Given the description of an element on the screen output the (x, y) to click on. 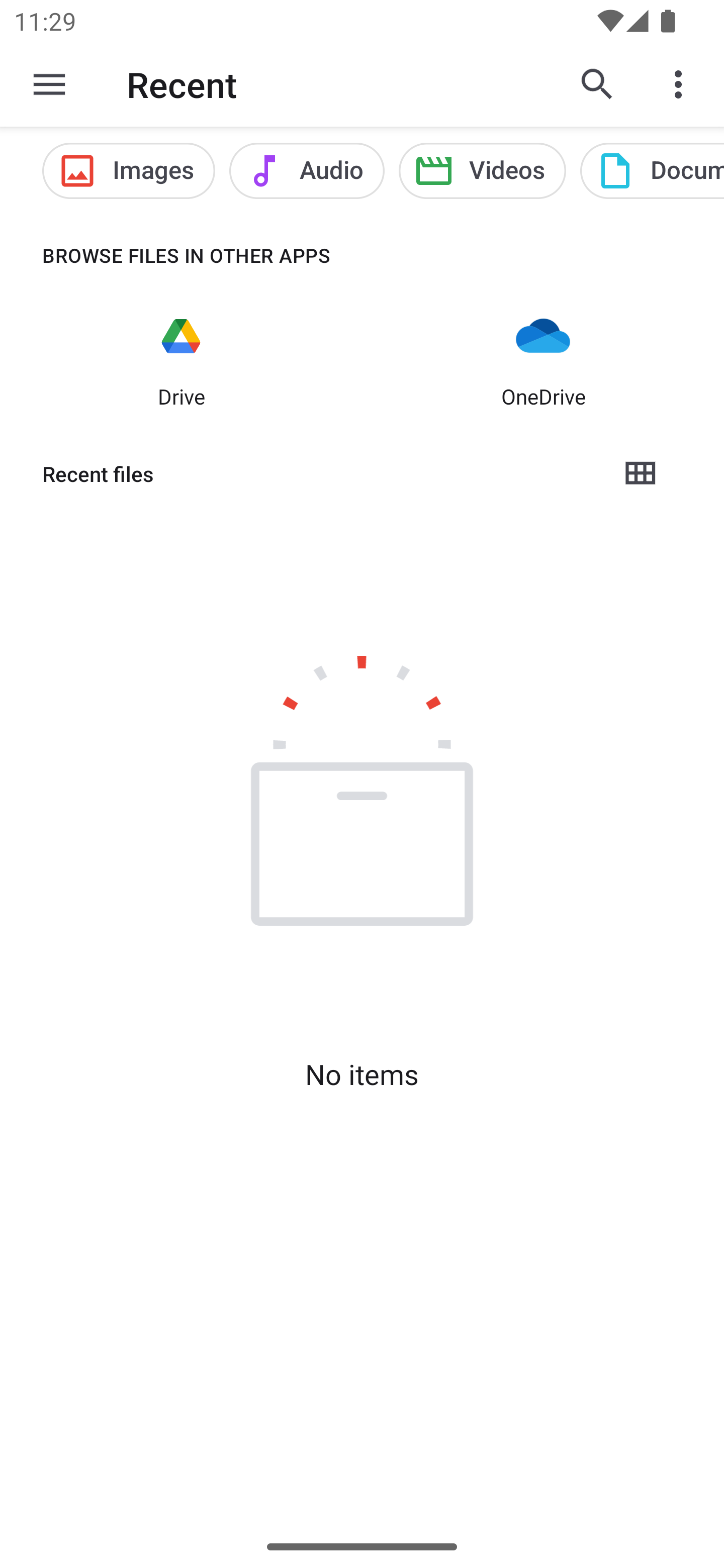
Show roots (49, 84)
Search (597, 84)
More options (681, 84)
Images (128, 170)
Audio (306, 170)
Videos (482, 170)
Documents (651, 170)
Drive (181, 359)
OneDrive (543, 359)
Grid view (639, 473)
